Given the description of an element on the screen output the (x, y) to click on. 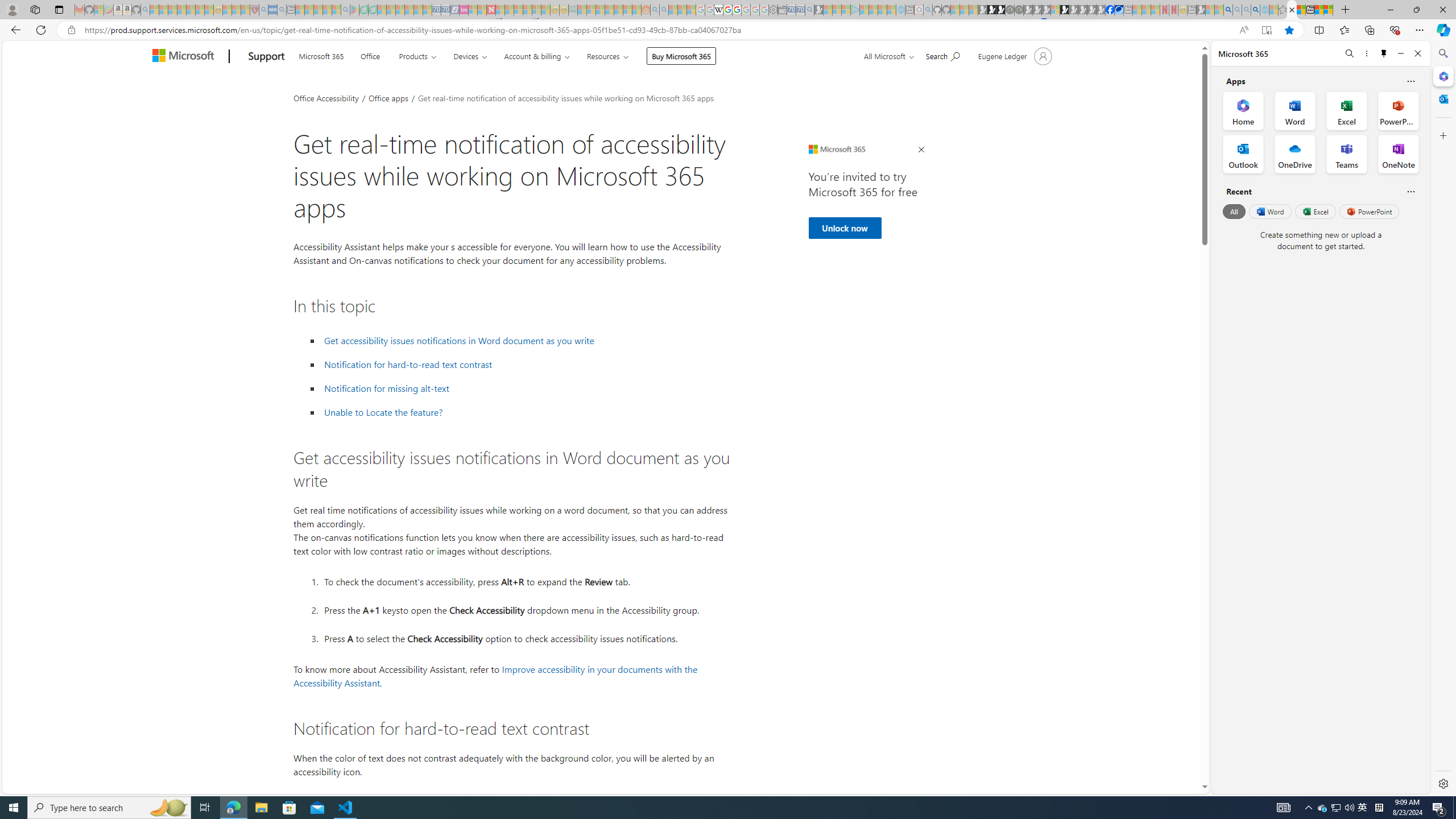
Nordace | Facebook (1109, 9)
Office Accessibility (326, 97)
Teams Office App (1346, 154)
